Given the description of an element on the screen output the (x, y) to click on. 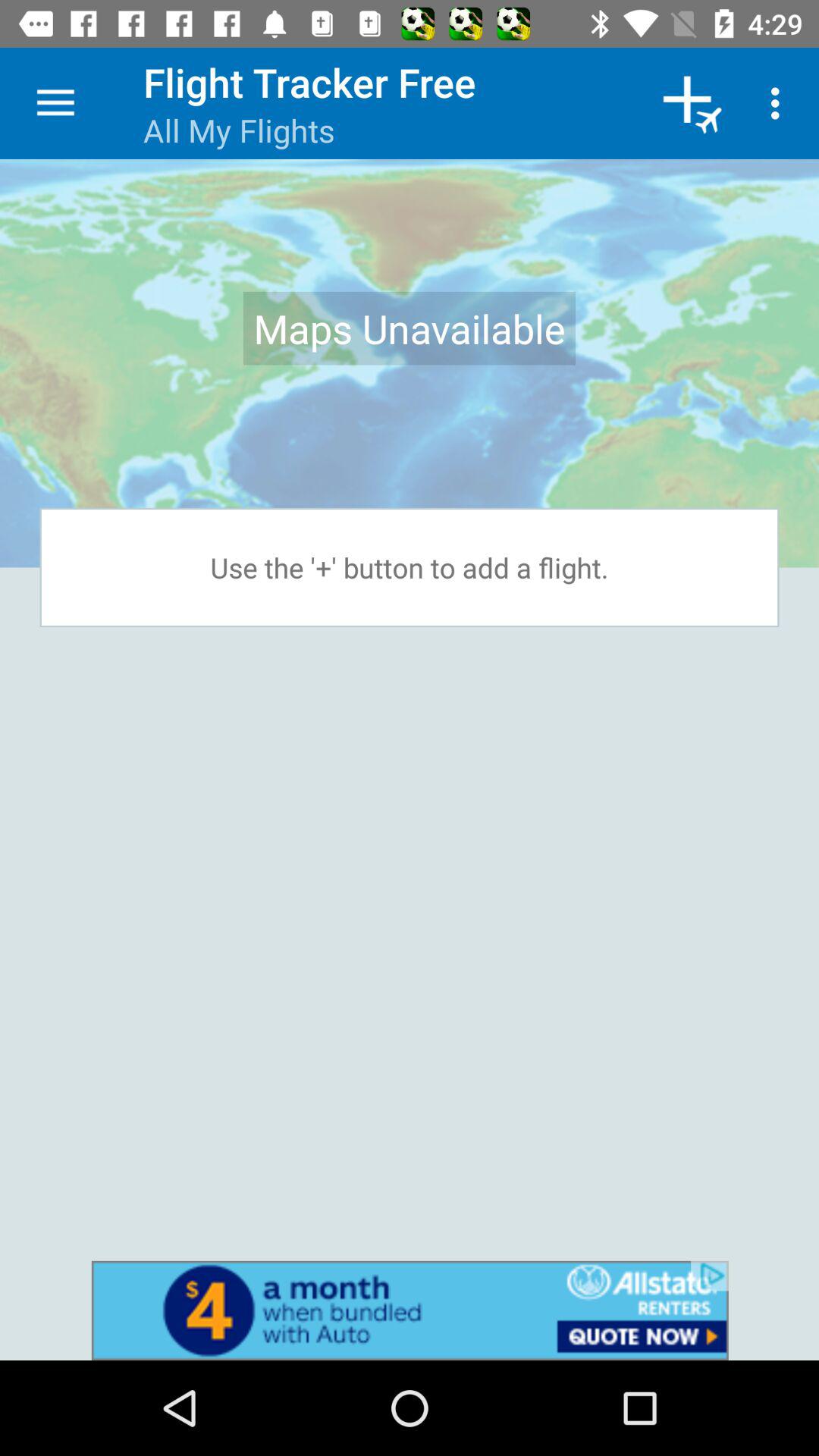
open advertisement (409, 1310)
